Given the description of an element on the screen output the (x, y) to click on. 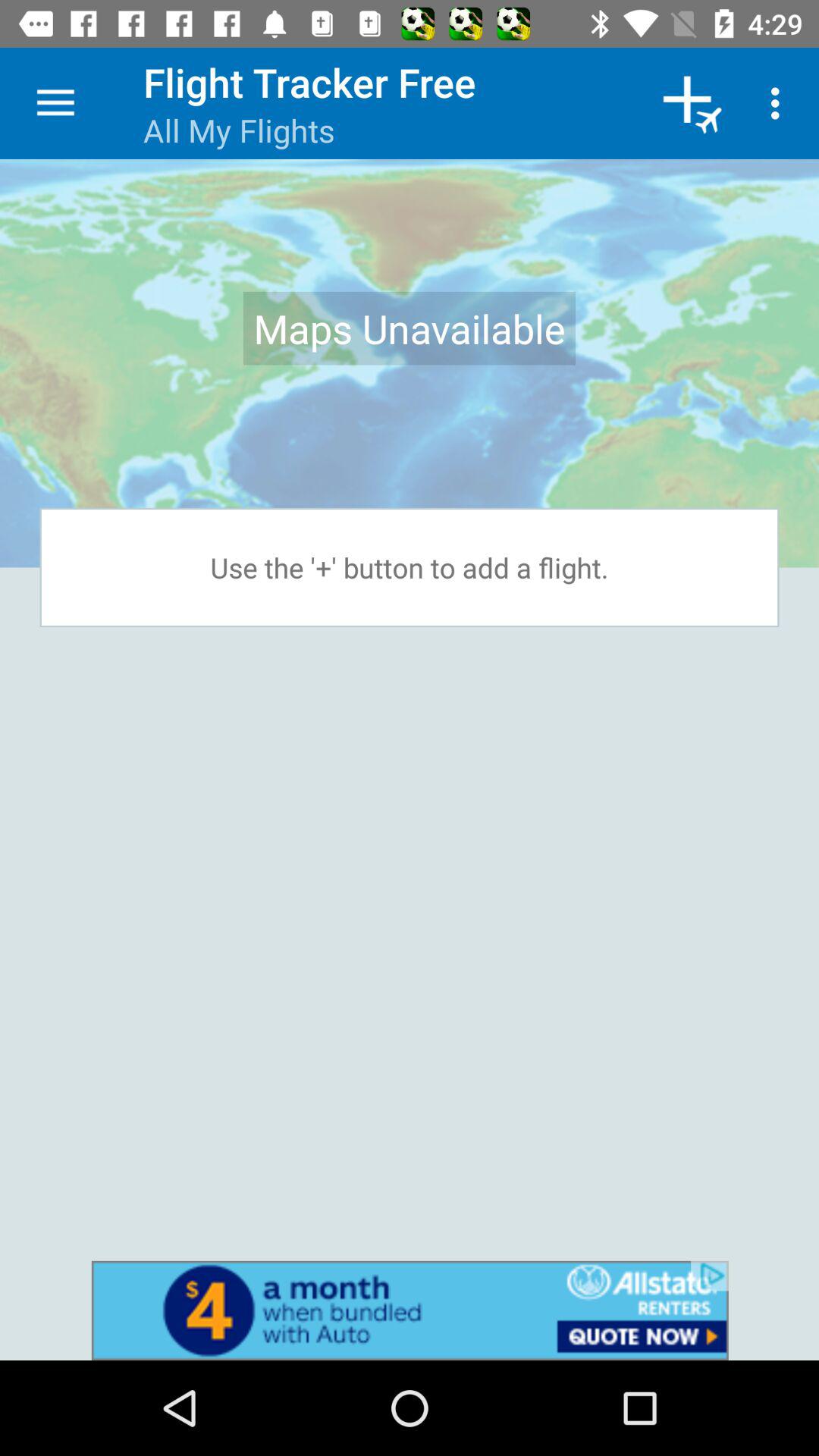
open advertisement (409, 1310)
